Given the description of an element on the screen output the (x, y) to click on. 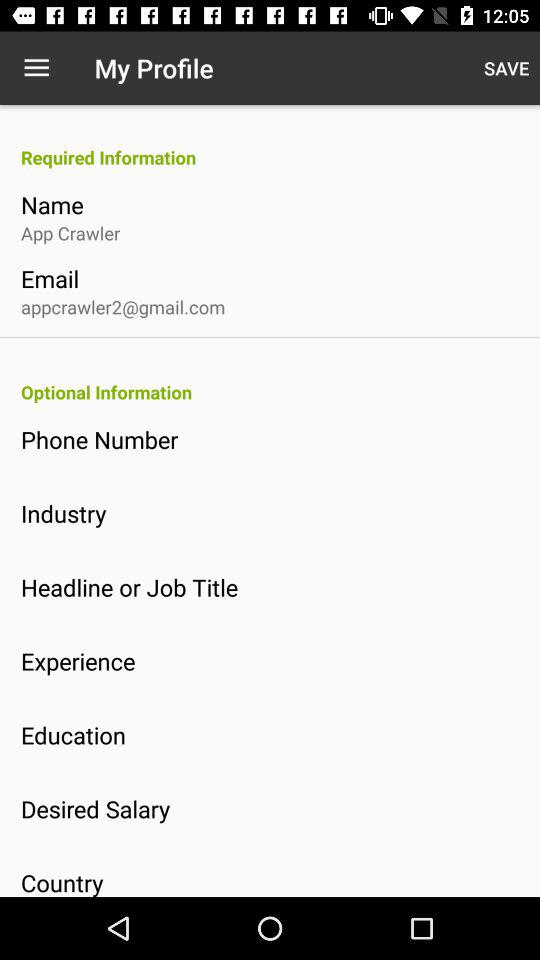
jump to optional information icon (280, 391)
